Given the description of an element on the screen output the (x, y) to click on. 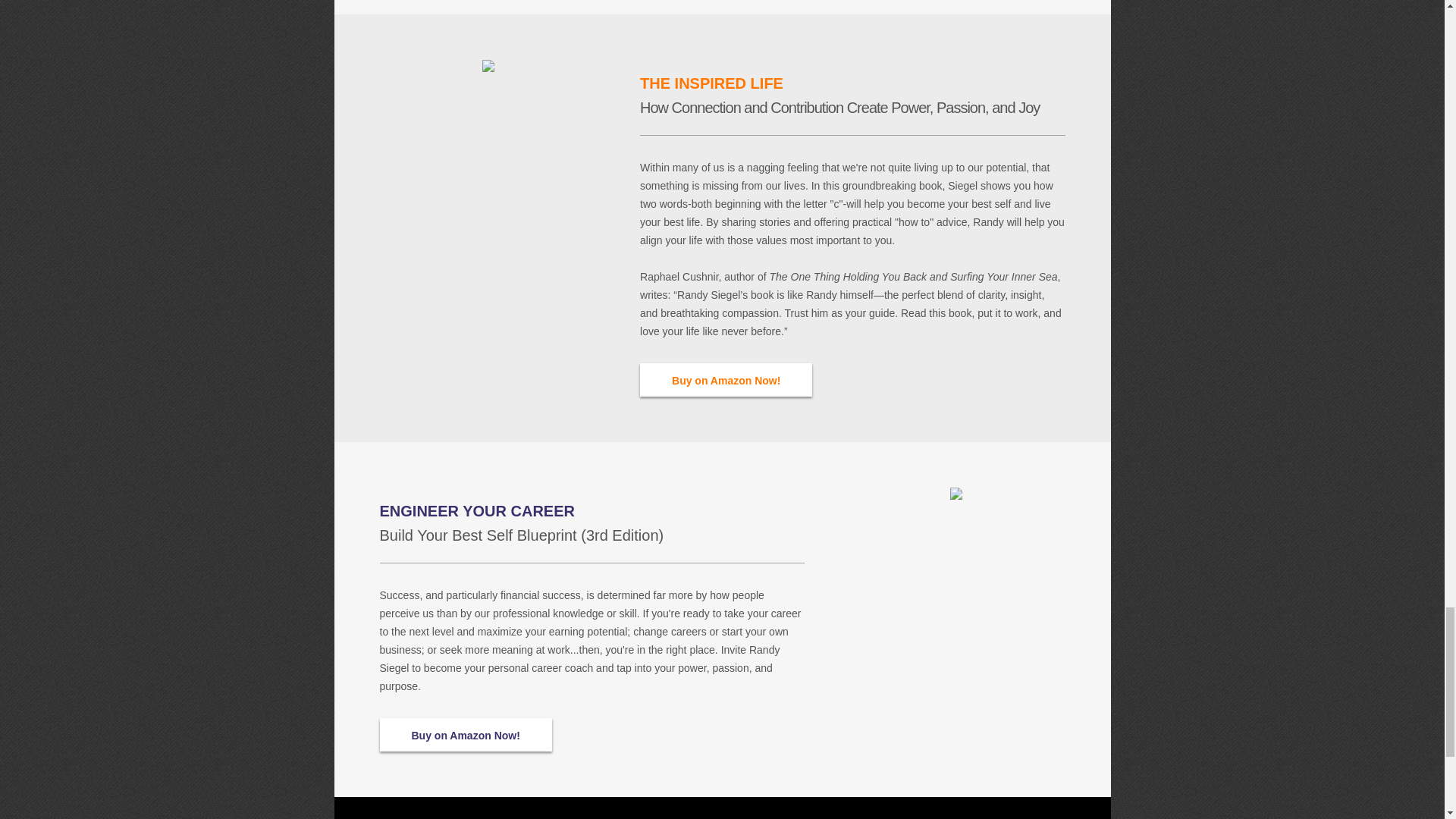
Buy on Amazon Now! (464, 734)
Buy on Amazon Now! (726, 379)
